Given the description of an element on the screen output the (x, y) to click on. 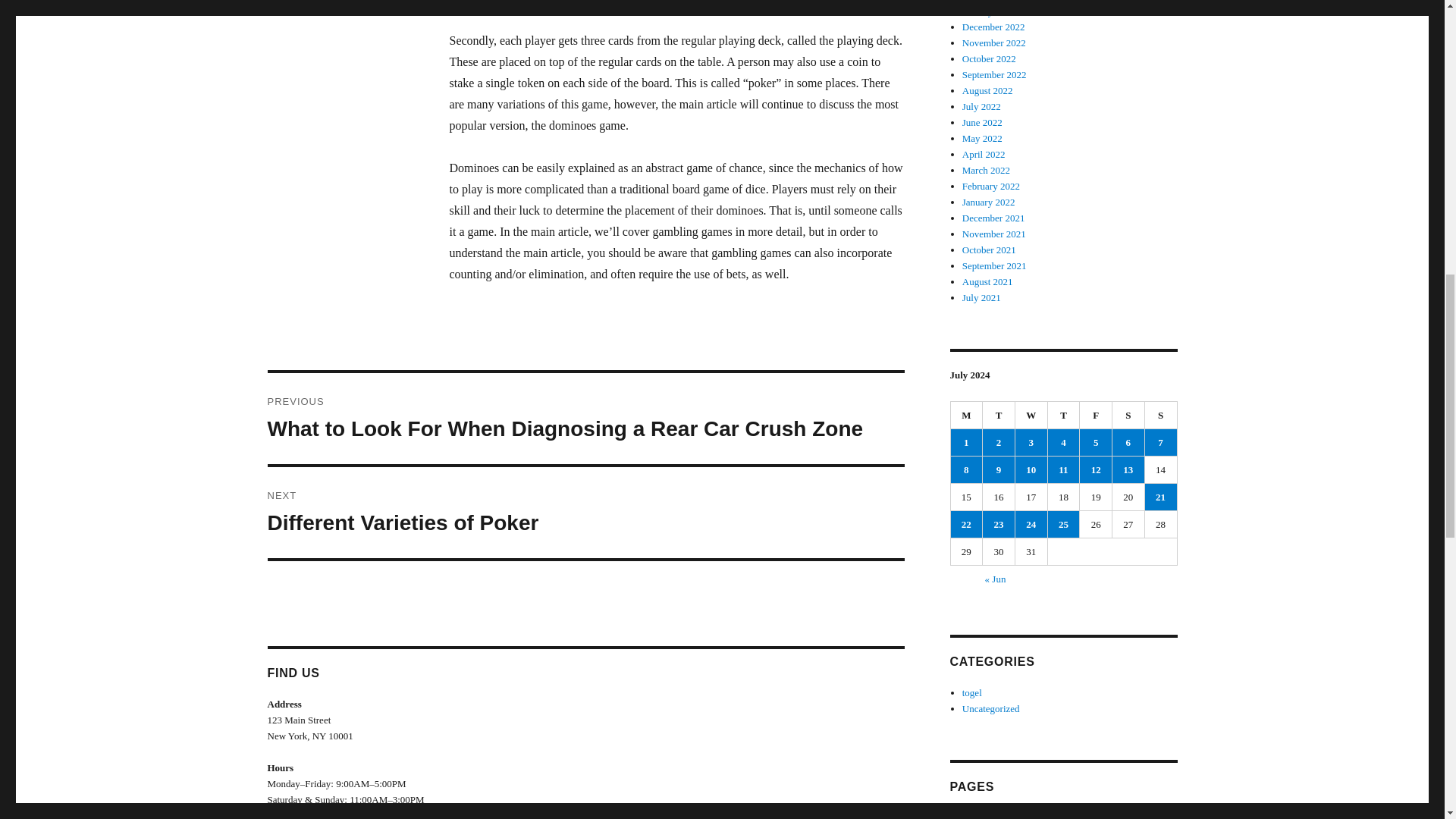
Thursday (1064, 415)
February 2023 (991, 0)
Friday (1096, 415)
Tuesday (998, 415)
Saturday (1128, 415)
Sunday (1160, 415)
Monday (967, 415)
Wednesday (585, 511)
